Given the description of an element on the screen output the (x, y) to click on. 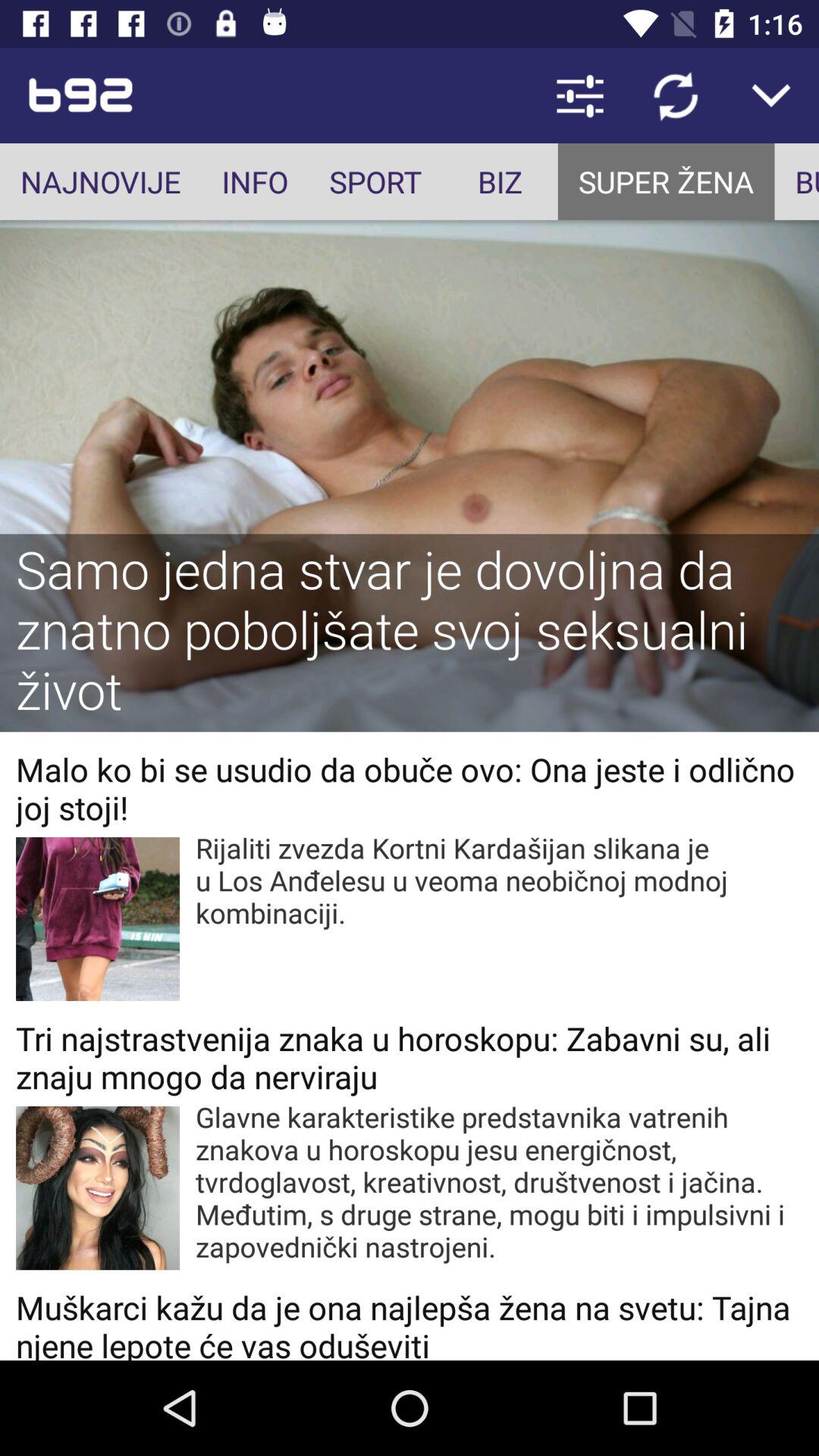
open icon above rijaliti zvezda kortni item (409, 788)
